Given the description of an element on the screen output the (x, y) to click on. 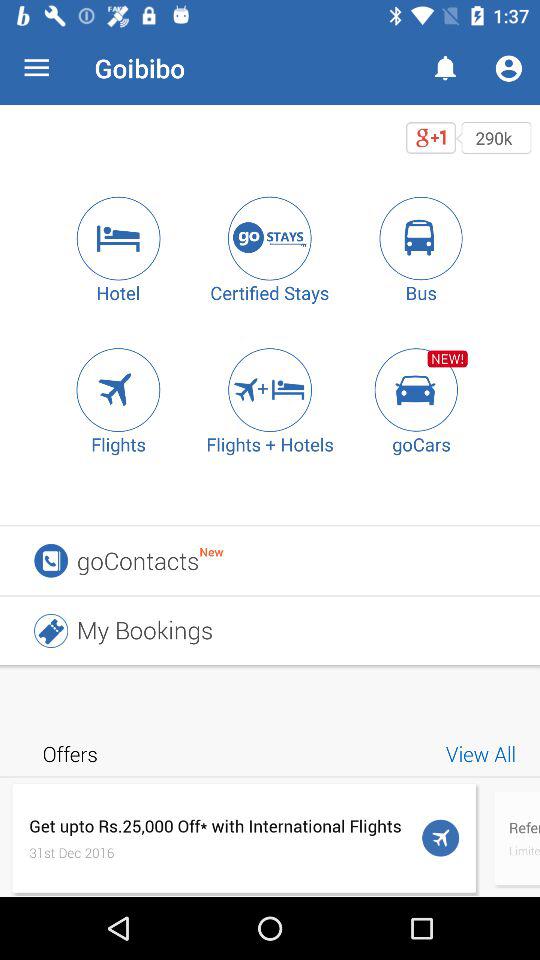
search flights (118, 390)
